Given the description of an element on the screen output the (x, y) to click on. 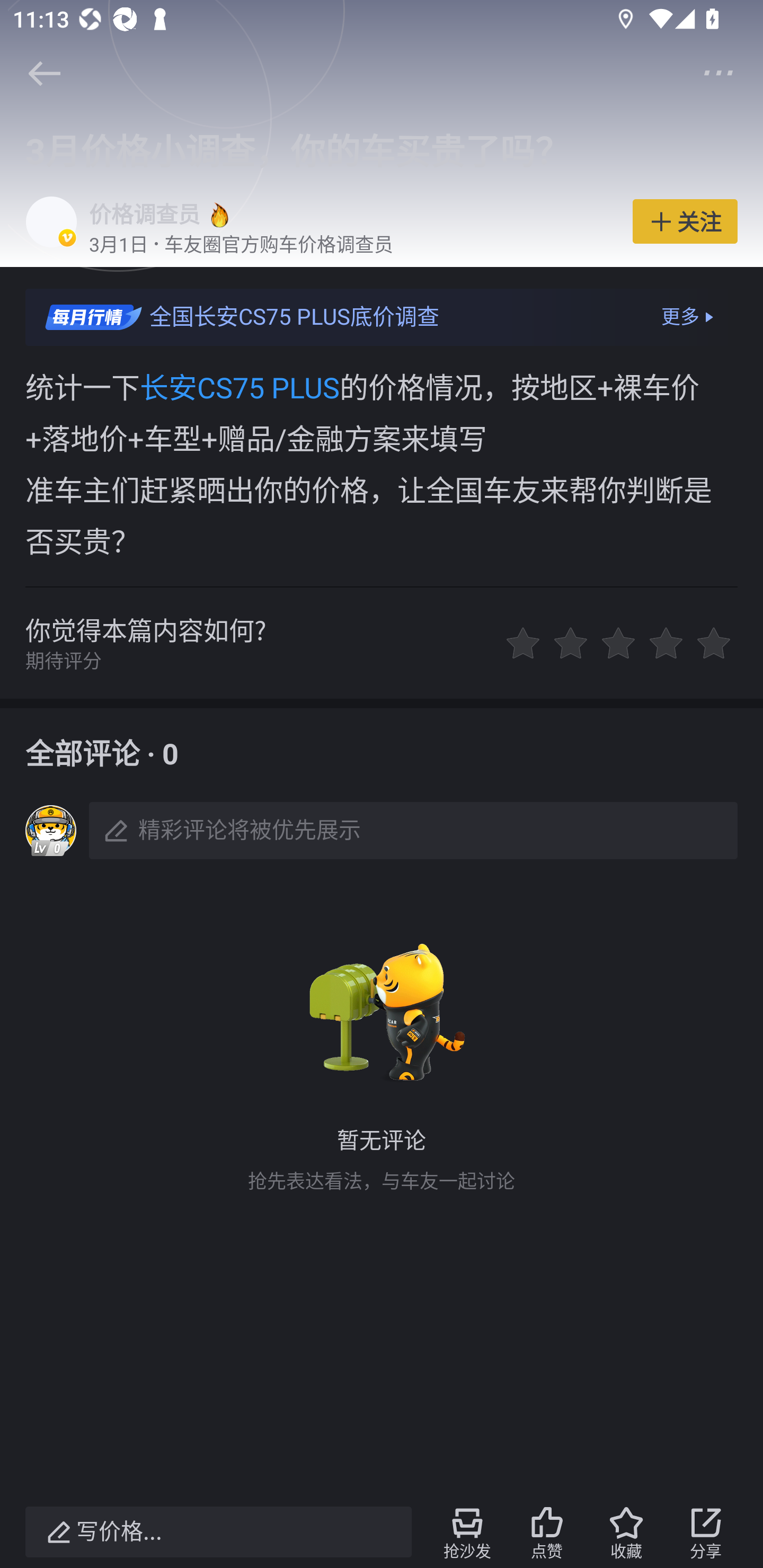
 (718, 71)
 (44, 73)
价格调查员 (144, 214)
 关注 (684, 221)
全国长安CS75 PLUS底价调查 更多 (381, 317)
更多 (689, 317)
 精彩评论将被优先展示 (381, 830)
暂无评论 抢先表达看法，与车友一起讨论 (381, 1061)
 抢沙发 (467, 1531)
点赞 (546, 1531)
收藏 (625, 1531)
 分享 (705, 1531)
 写价格... (218, 1531)
